Given the description of an element on the screen output the (x, y) to click on. 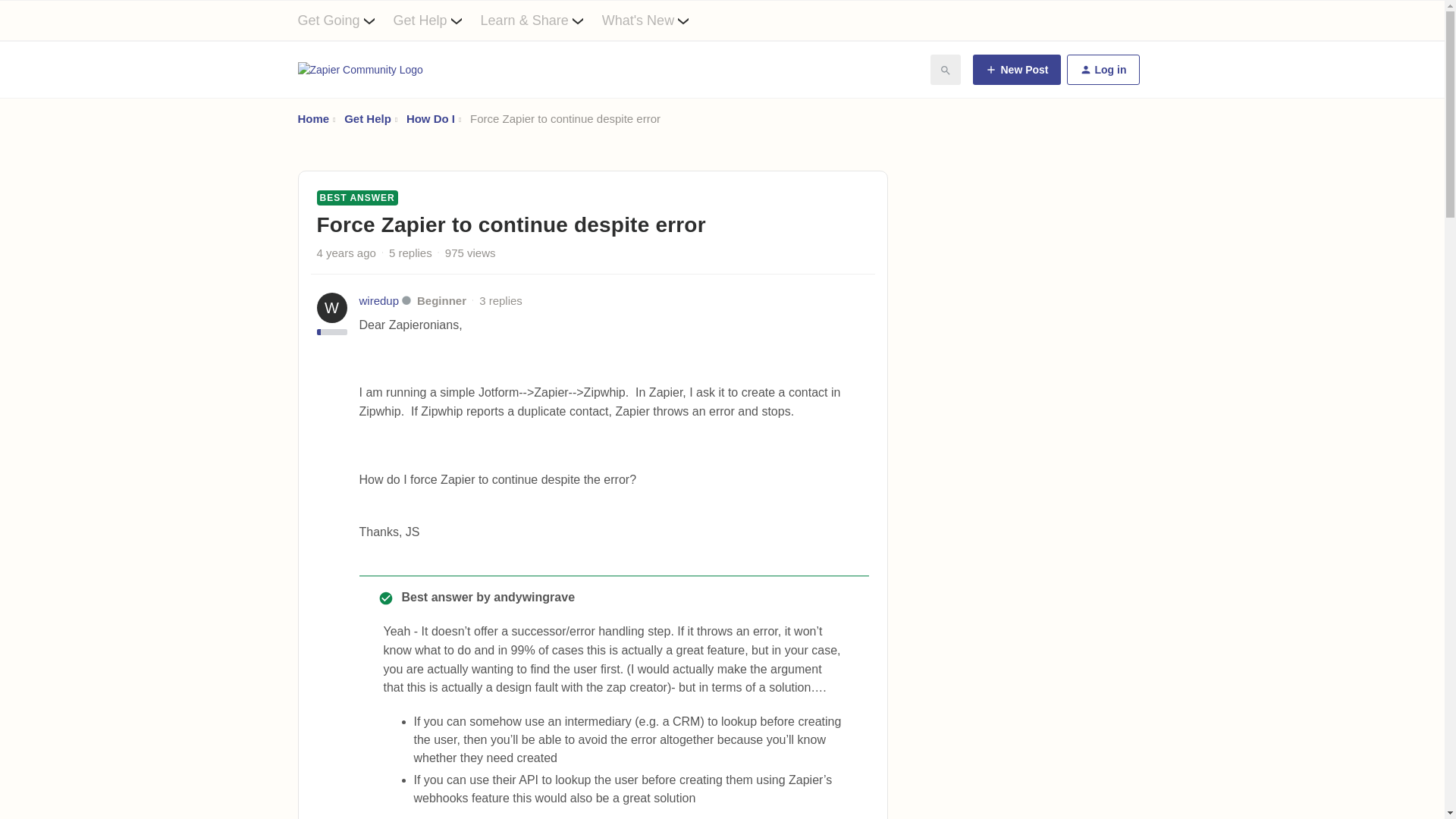
Get Help (367, 118)
New Post (1015, 69)
Beginner (440, 300)
Get Help (436, 20)
Home (313, 118)
Get Going (345, 20)
New Post (1015, 69)
What's New (654, 20)
Log in (1101, 69)
